Given the description of an element on the screen output the (x, y) to click on. 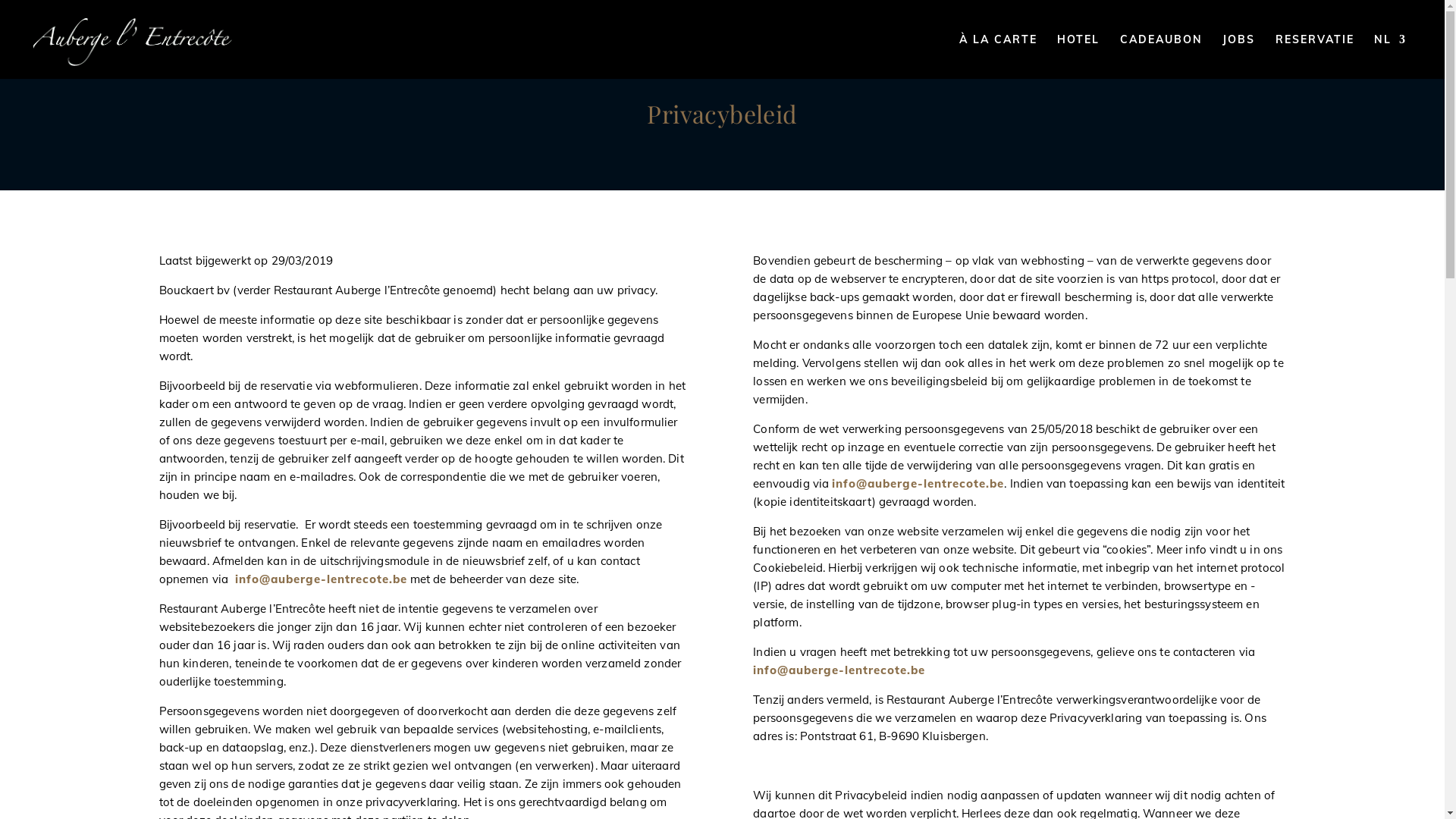
info@auberge-lentrecote.be Element type: text (917, 483)
JOBS Element type: text (1238, 56)
info@auberge-lentrecote.be Element type: text (321, 578)
HOTEL Element type: text (1078, 56)
NL Element type: text (1390, 56)
info@auberge-lentrecote.be Element type: text (839, 669)
RESERVATIE Element type: text (1314, 56)
CADEAUBON Element type: text (1161, 56)
